Given the description of an element on the screen output the (x, y) to click on. 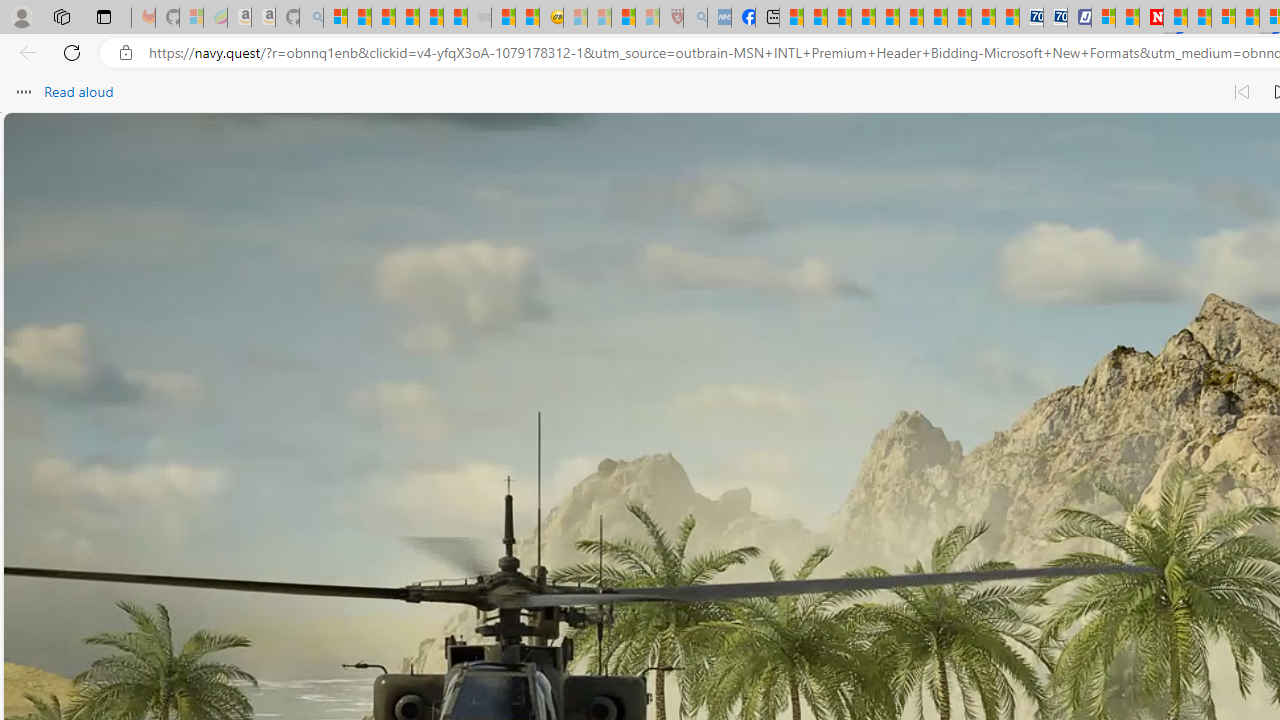
Latest Politics News & Archive | Newsweek.com (1151, 17)
